Given the description of an element on the screen output the (x, y) to click on. 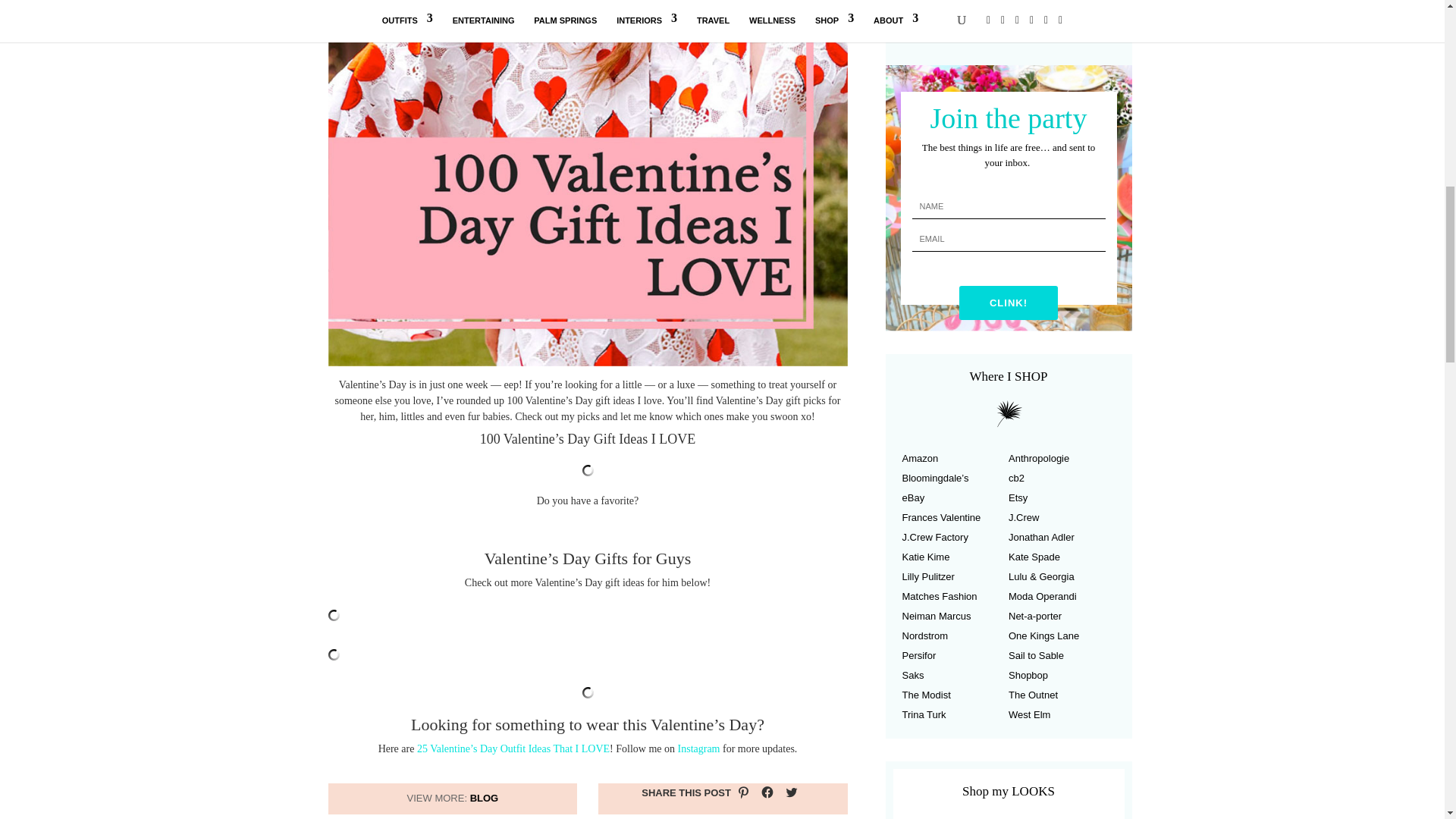
Click to share on Facebook (766, 792)
Click to share on Pinterest (742, 792)
Click to share on Twitter (790, 792)
